Given the description of an element on the screen output the (x, y) to click on. 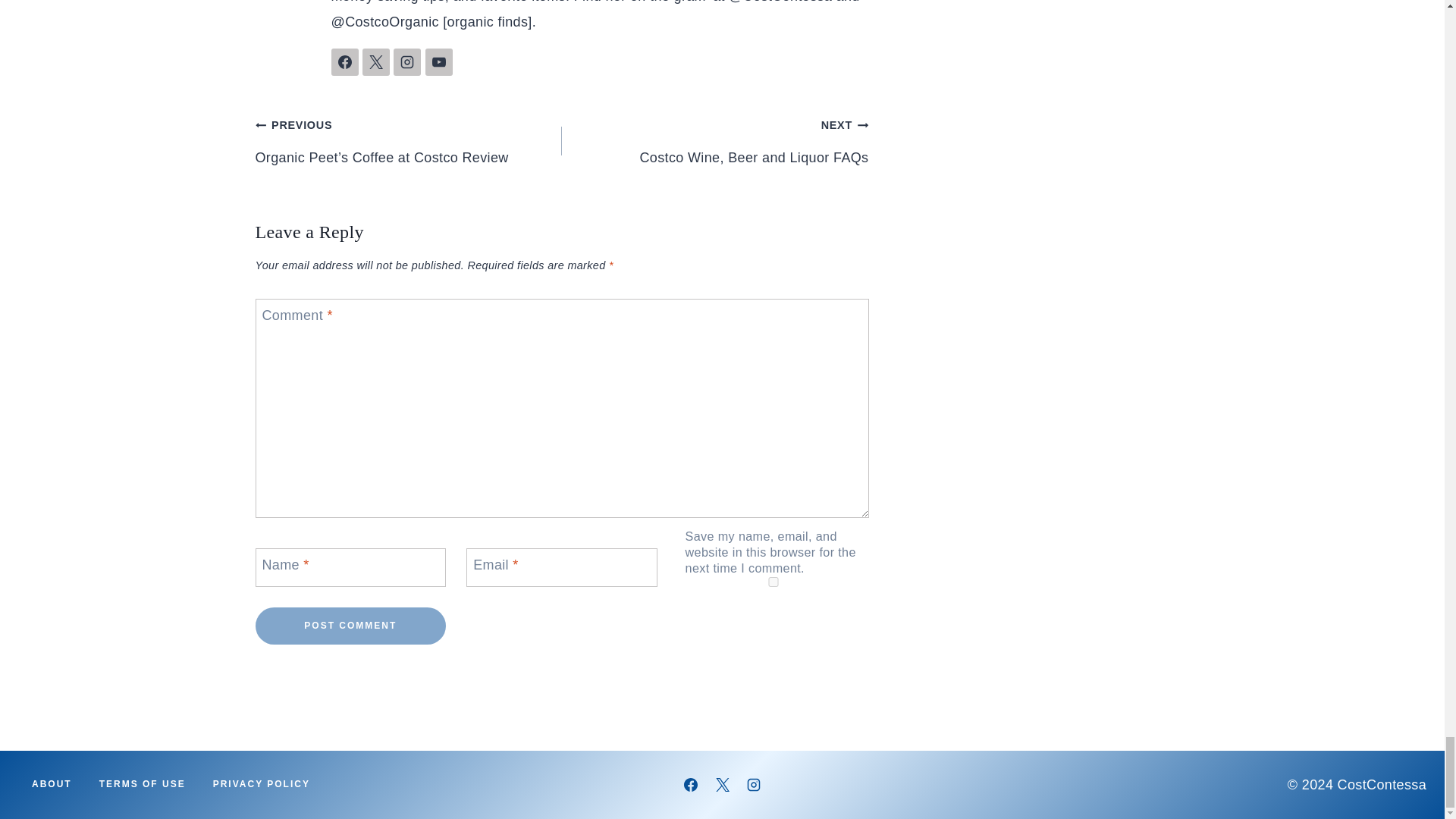
Post Comment (349, 625)
yes (773, 582)
